Given the description of an element on the screen output the (x, y) to click on. 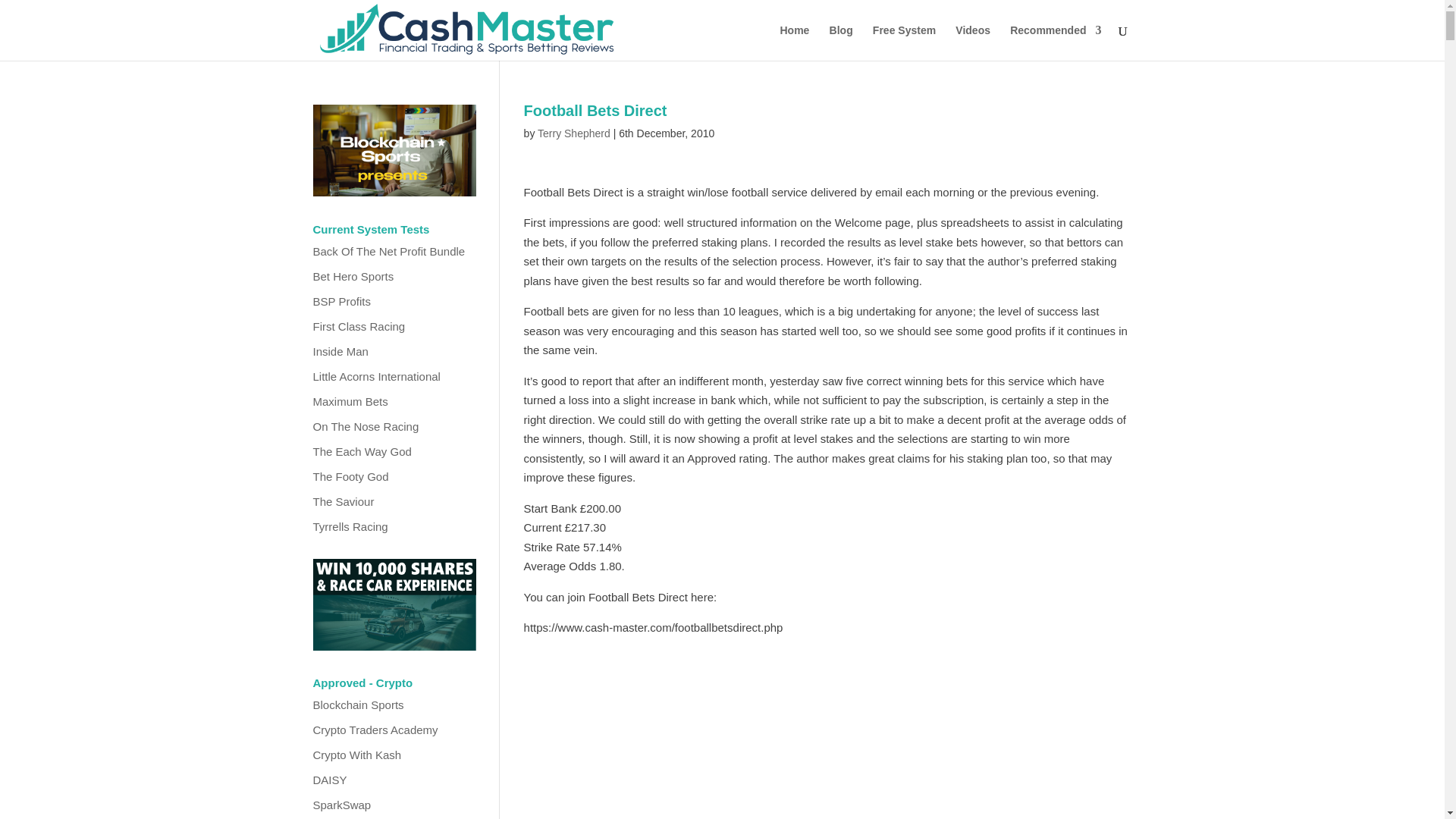
Little Acorns International (376, 376)
Back Of The Net Profit Bundle (388, 250)
Terry Shepherd (573, 133)
Videos (972, 42)
Recommended (1055, 42)
Blockchain Sports (358, 704)
The Footy God (350, 476)
Free System (904, 42)
On The Nose Racing (366, 426)
Inside Man (340, 350)
